Given the description of an element on the screen output the (x, y) to click on. 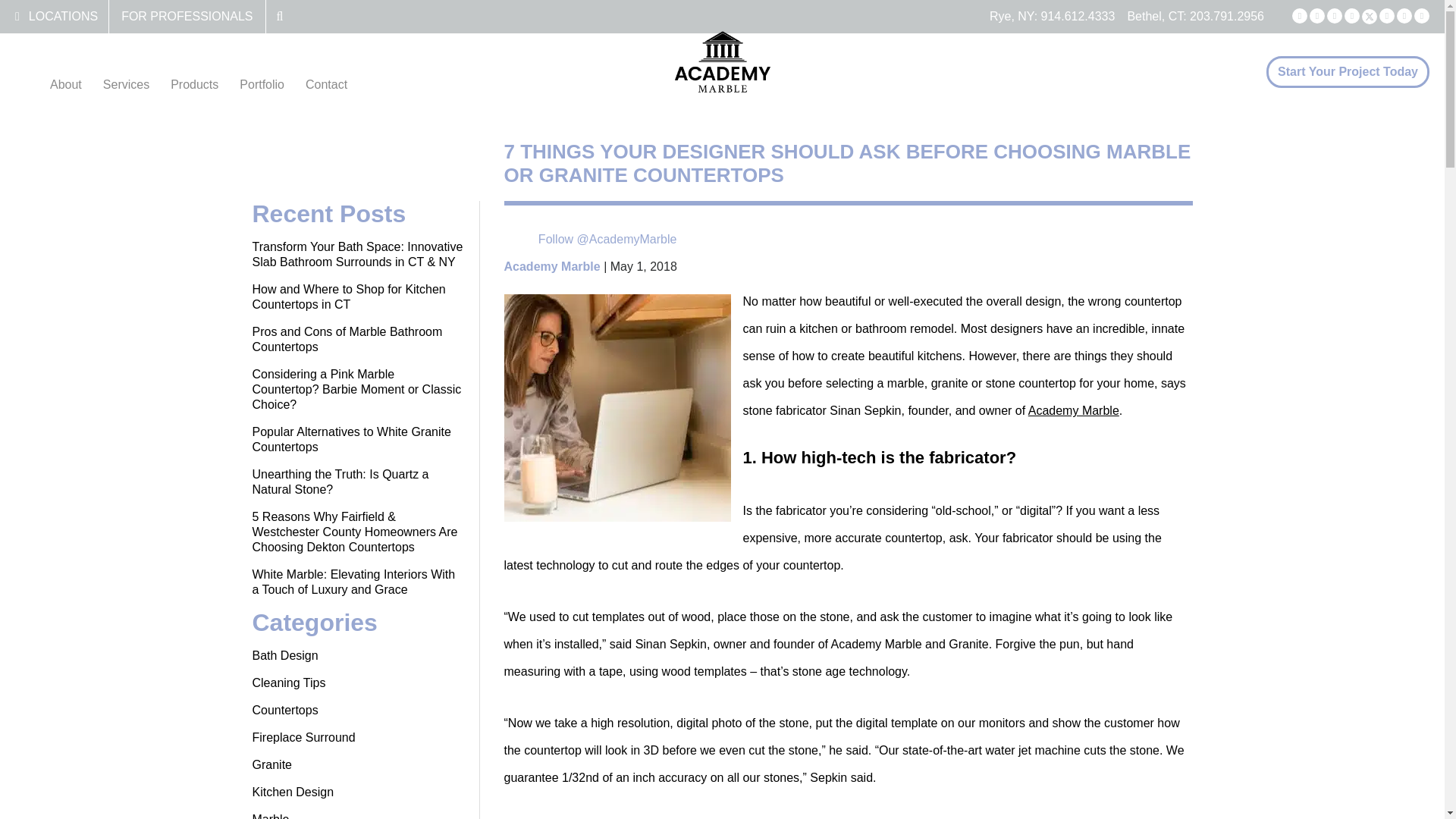
LOCATIONS (63, 15)
203.791.2956 (1226, 15)
914.612.4333 (1078, 15)
FOR PROFESSIONALS (185, 15)
